Given the description of an element on the screen output the (x, y) to click on. 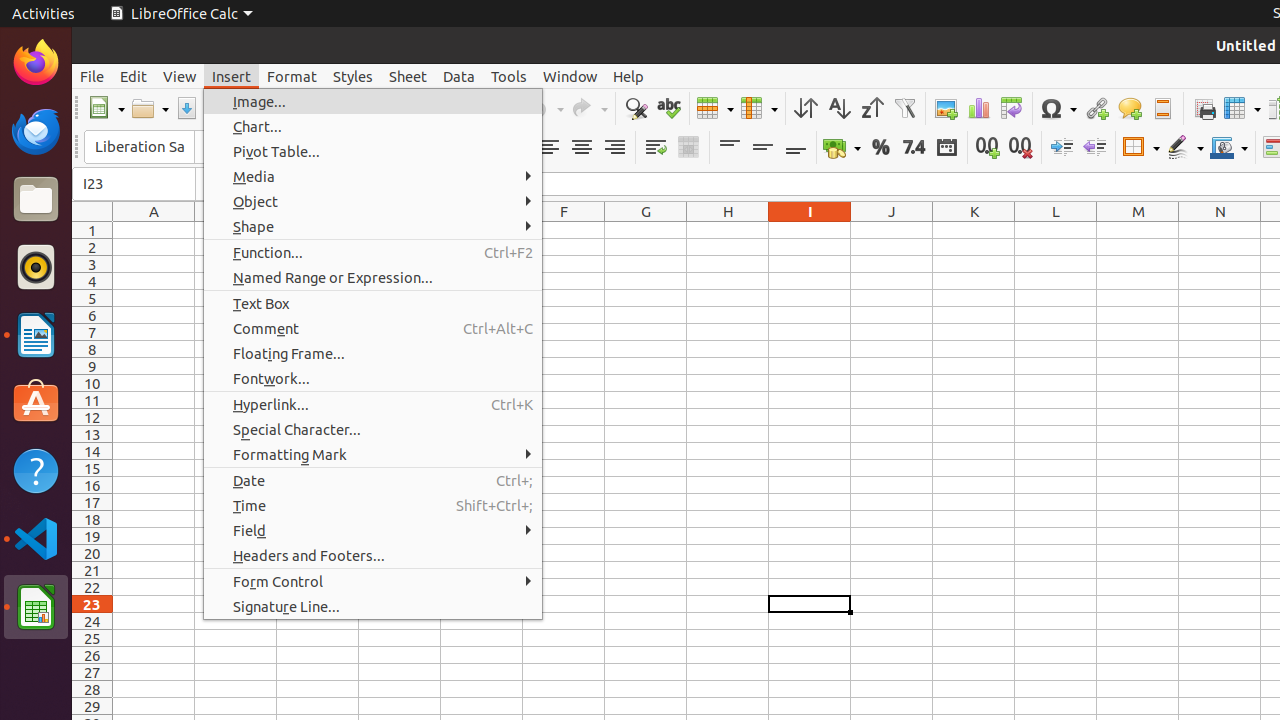
Floating Frame... Element type: menu-item (373, 353)
Data Element type: menu (459, 76)
Comment Element type: menu-item (373, 328)
Align Bottom Element type: push-button (795, 147)
